Given the description of an element on the screen output the (x, y) to click on. 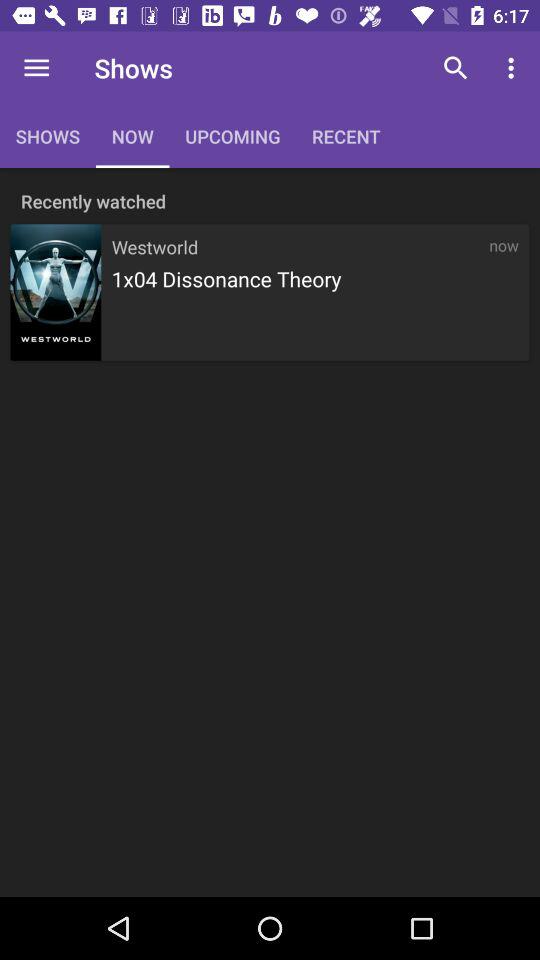
select the icon above the shows item (36, 68)
